Given the description of an element on the screen output the (x, y) to click on. 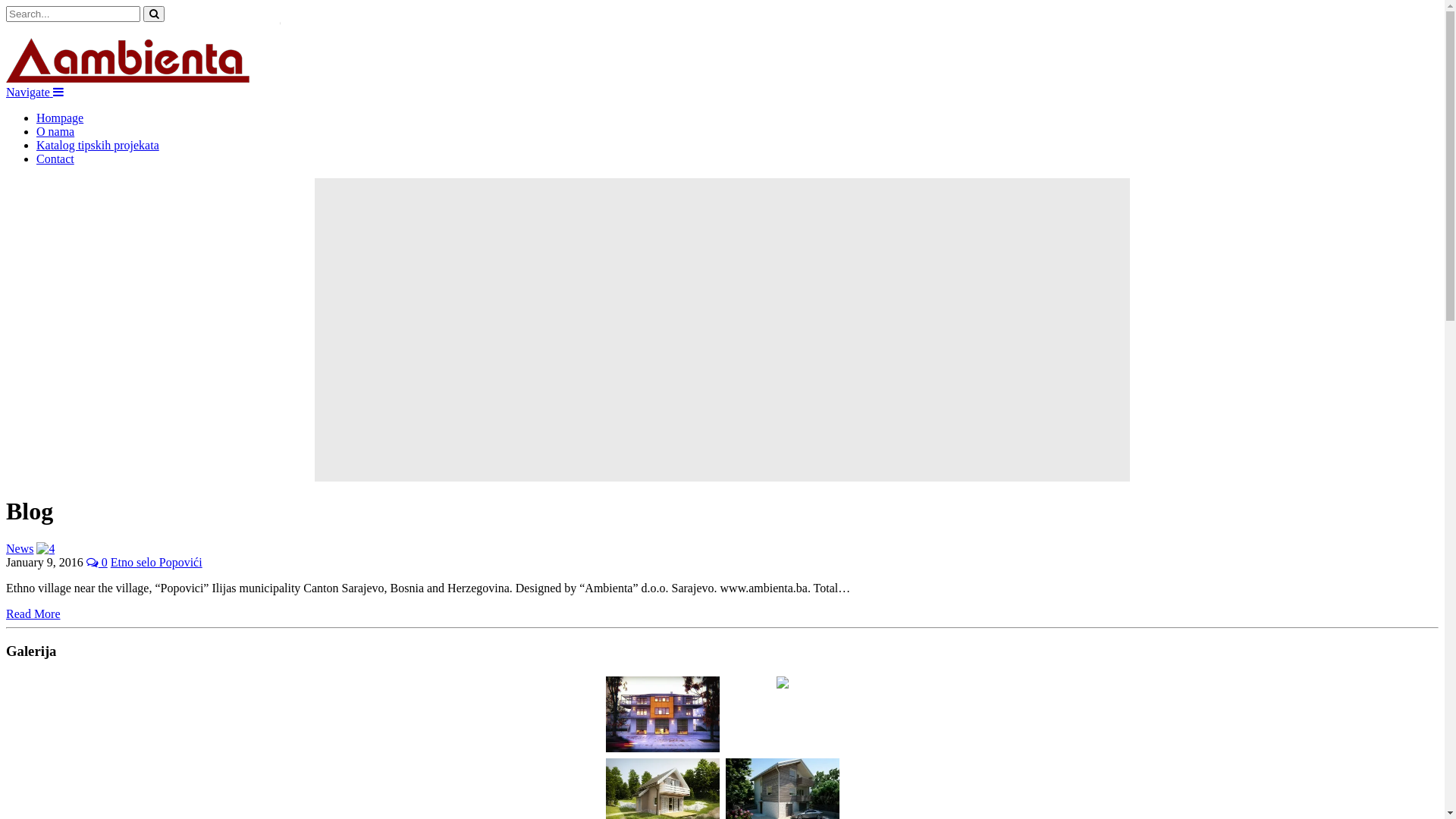
O nama Element type: text (55, 131)
Hompage Element type: text (59, 117)
News Element type: text (19, 548)
Contact Element type: text (55, 158)
Katalog tipskih projekata Element type: text (97, 144)
Projektni biro Ambienta Element type: hover (143, 78)
Read More Element type: text (33, 613)
Navigate Element type: text (34, 91)
0 Element type: text (96, 561)
